Given the description of an element on the screen output the (x, y) to click on. 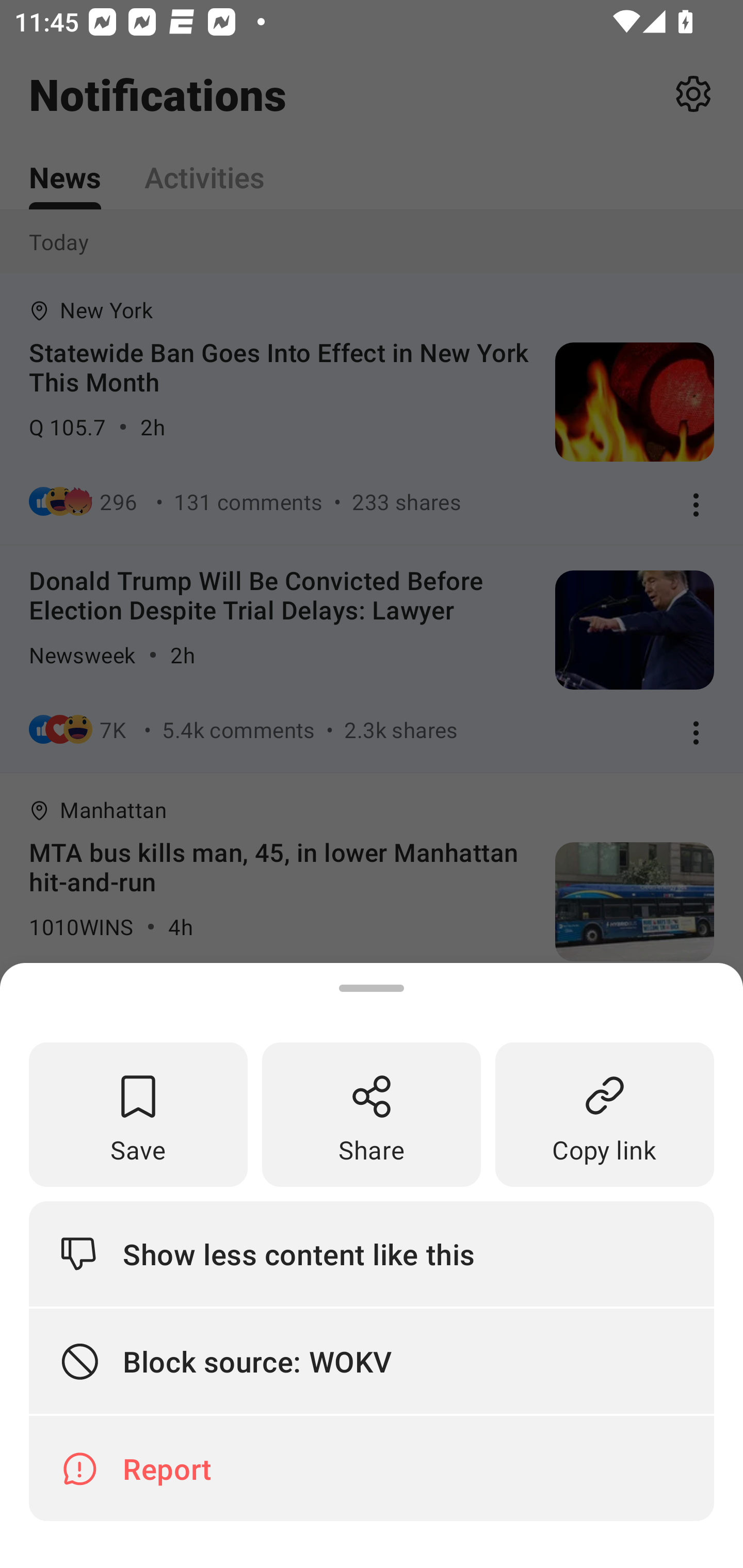
Save (137, 1114)
Share (371, 1114)
Copy link (604, 1114)
Show less content like this (371, 1253)
Block source: WOKV (371, 1361)
Report (371, 1467)
